Given the description of an element on the screen output the (x, y) to click on. 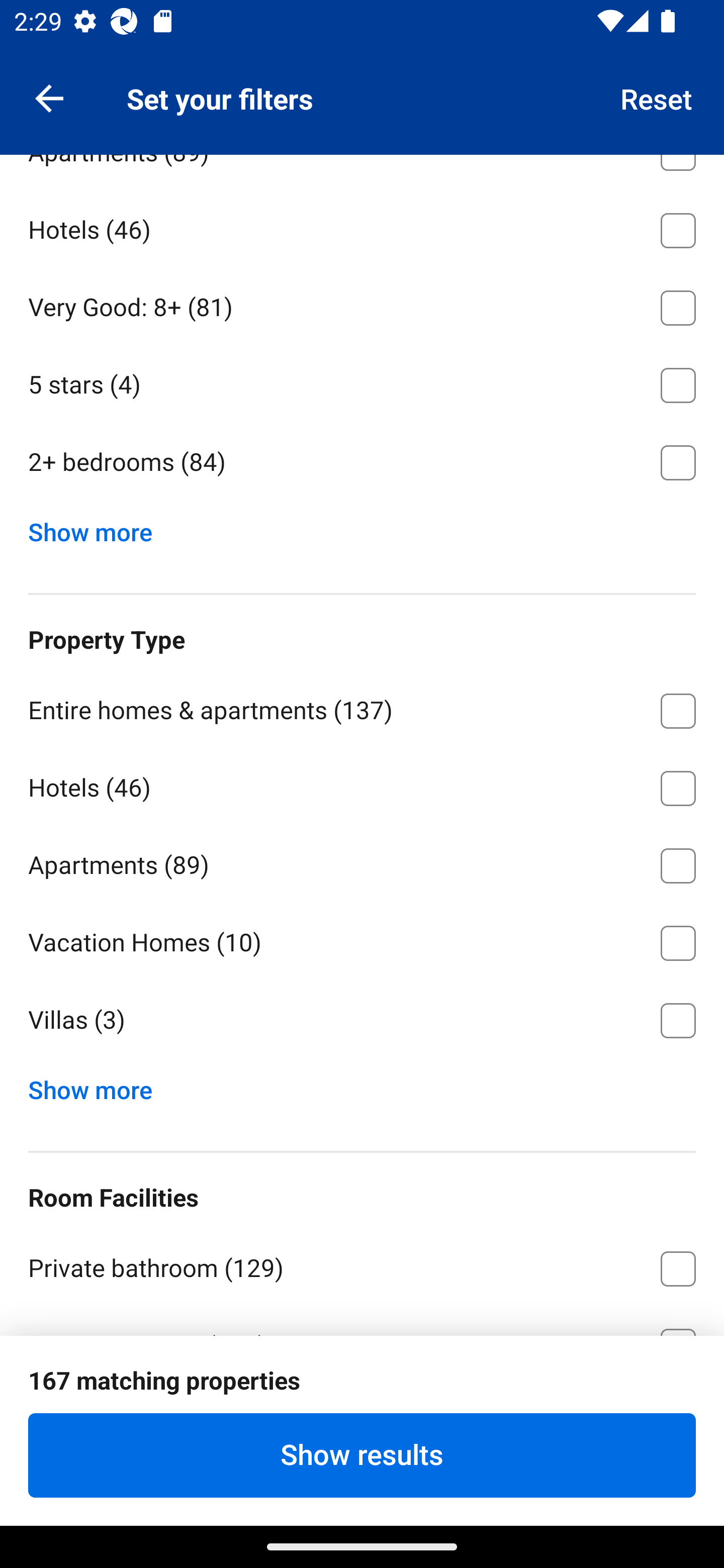
Navigate up (49, 97)
Reset (656, 97)
Hotels ⁦(46) (361, 227)
Very Good: 8+ ⁦(81) (361, 304)
5 stars ⁦(4) (361, 381)
2+ bedrooms ⁦(84) (361, 462)
Show more (97, 527)
Entire homes & apartments ⁦(137) (361, 707)
Hotels ⁦(46) (361, 784)
Apartments ⁦(89) (361, 862)
Vacation Homes ⁦(10) (361, 939)
Villas ⁦(3) (361, 1020)
Show more (97, 1085)
Private bathroom ⁦(129) (361, 1265)
Show results (361, 1454)
